Given the description of an element on the screen output the (x, y) to click on. 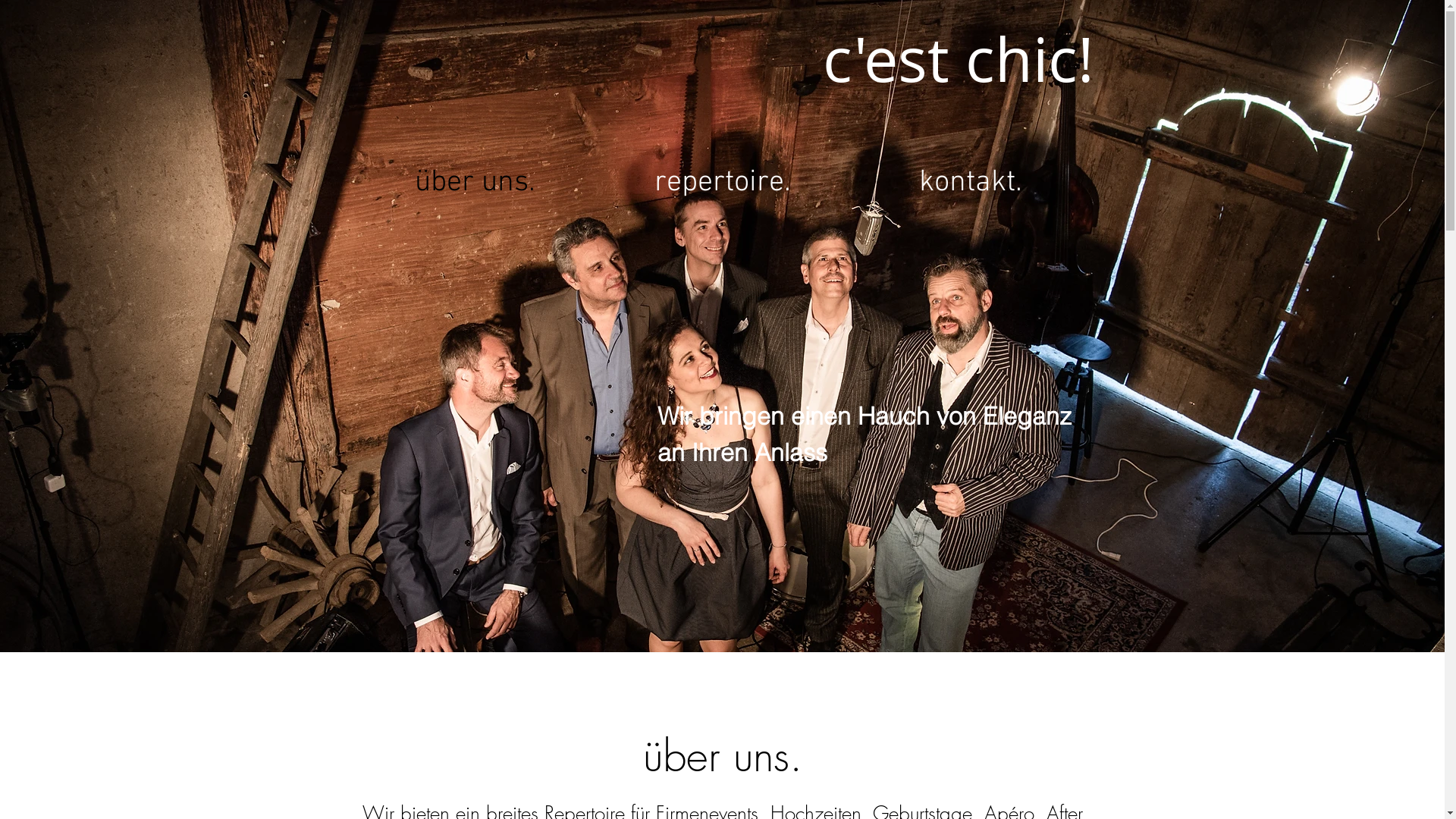
repertoire. Element type: text (723, 182)
c'est chic! Element type: text (957, 60)
kontakt. Element type: text (969, 182)
